Given the description of an element on the screen output the (x, y) to click on. 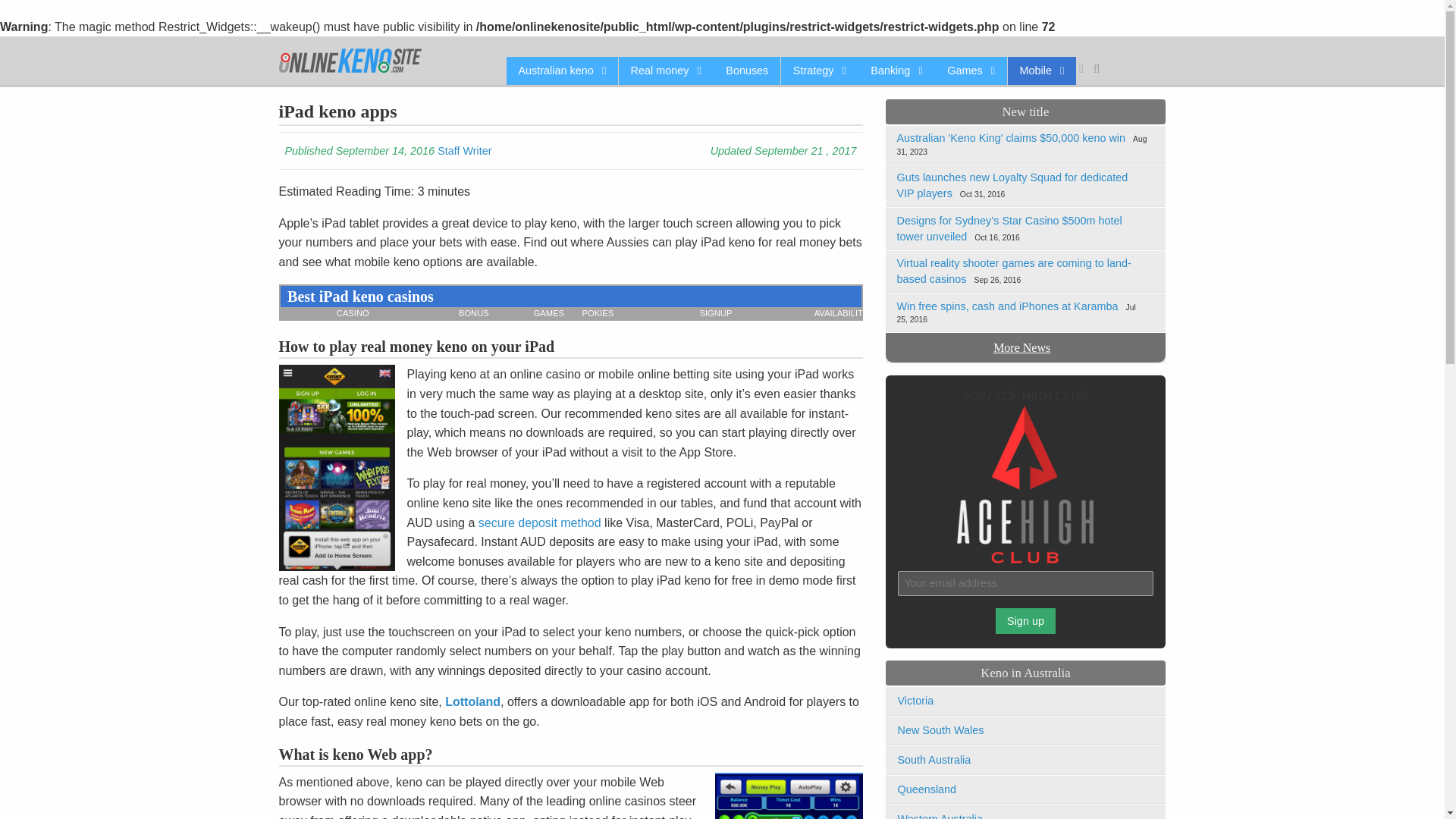
Sign up (1026, 620)
Online Keno Sites (350, 60)
Play mobile keno games on iPad (781, 796)
Download the Lottoland keno app for iPhone (472, 701)
How to pay for keno games online (540, 522)
